Given the description of an element on the screen output the (x, y) to click on. 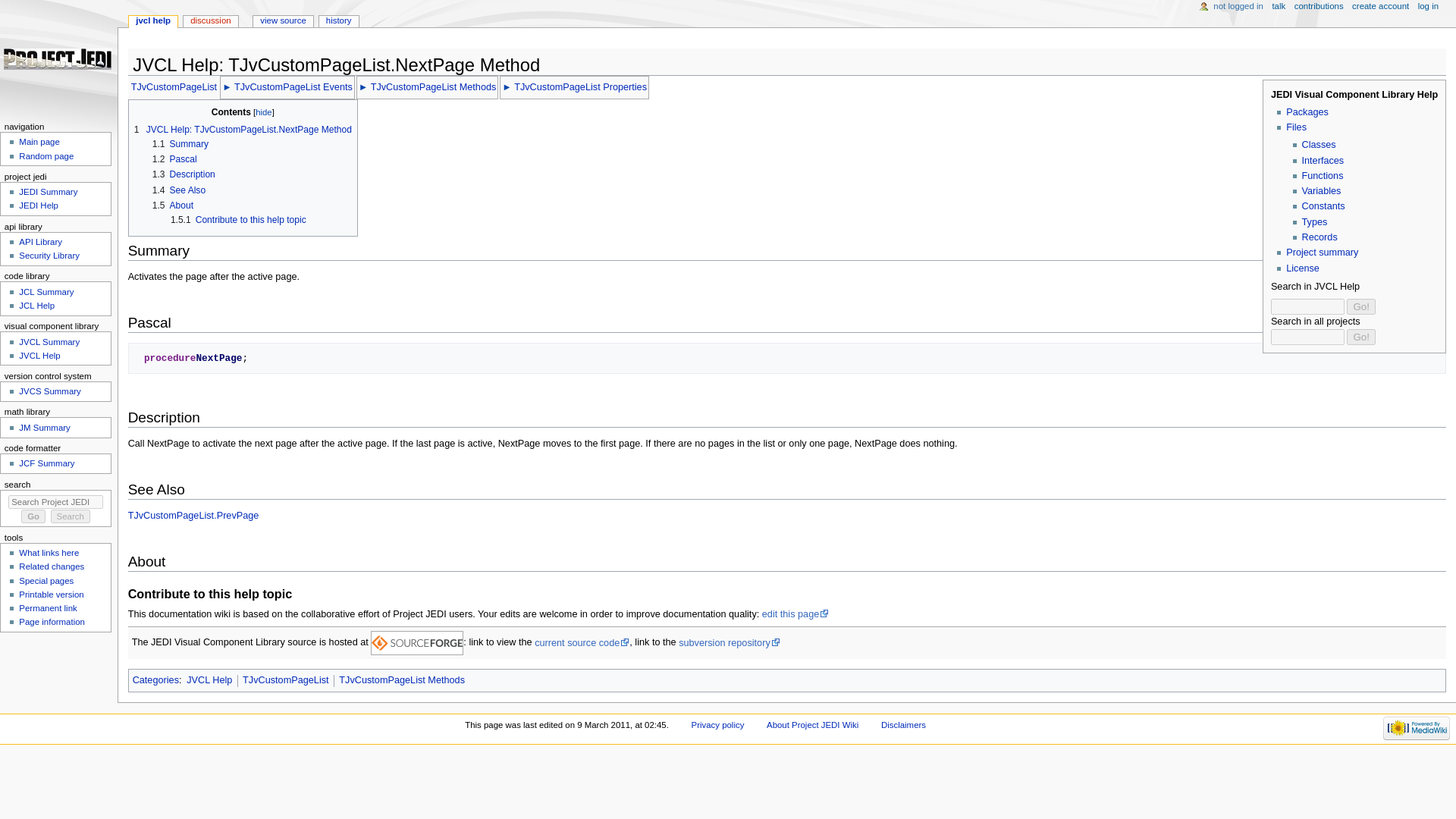
JVCL Help (208, 679)
JVCL Help:JVCL Interfaces (1322, 159)
JVCL Help:JVCL Constants (1322, 205)
JEDI Visual Component Library (1321, 252)
JVCL Help:TJvCustomPageList (173, 86)
Interfaces (1322, 159)
discussion (210, 21)
TJvCustomPageList Methods (401, 679)
current source code (581, 643)
